Given the description of an element on the screen output the (x, y) to click on. 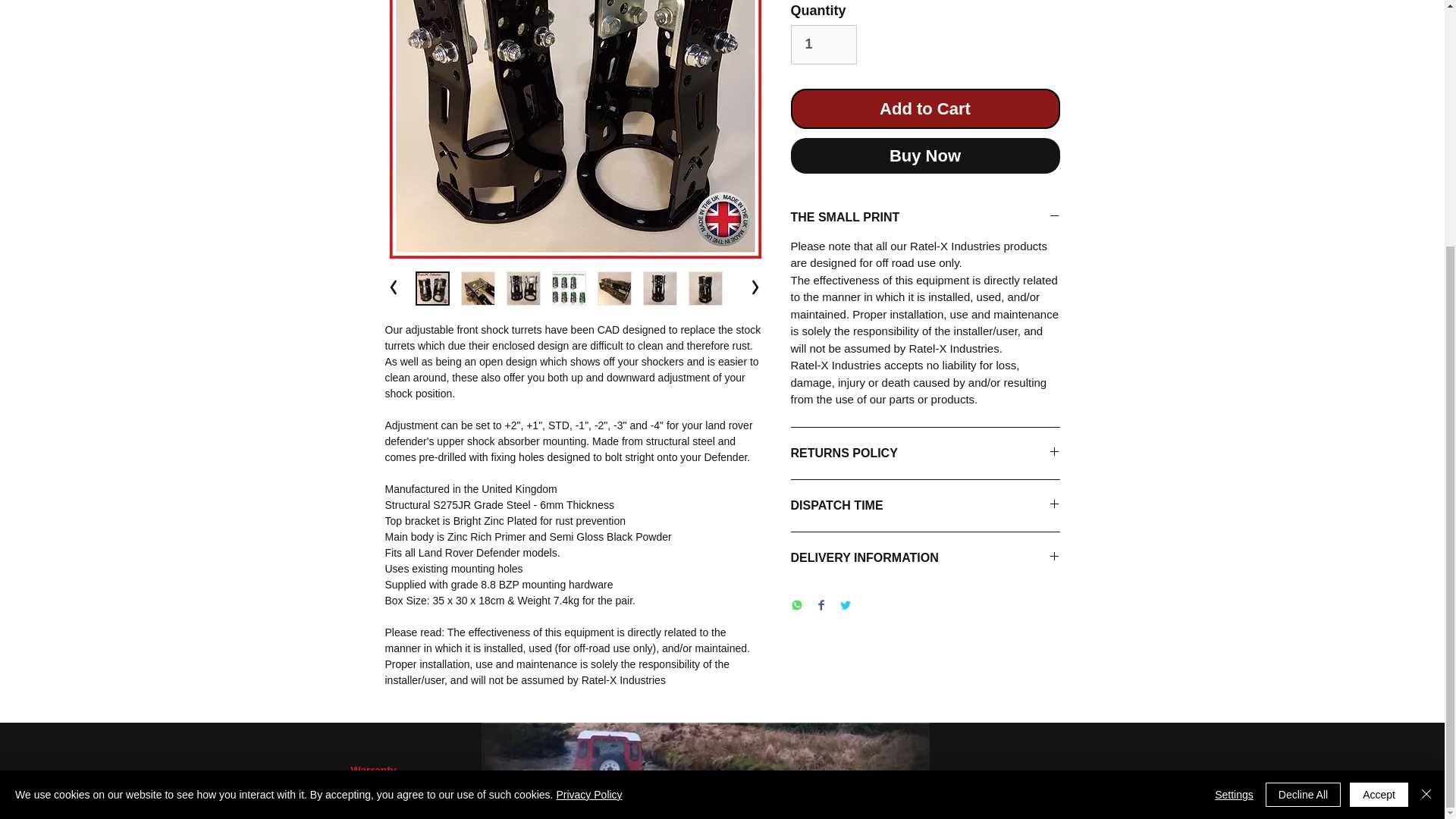
1 (823, 44)
